Given the description of an element on the screen output the (x, y) to click on. 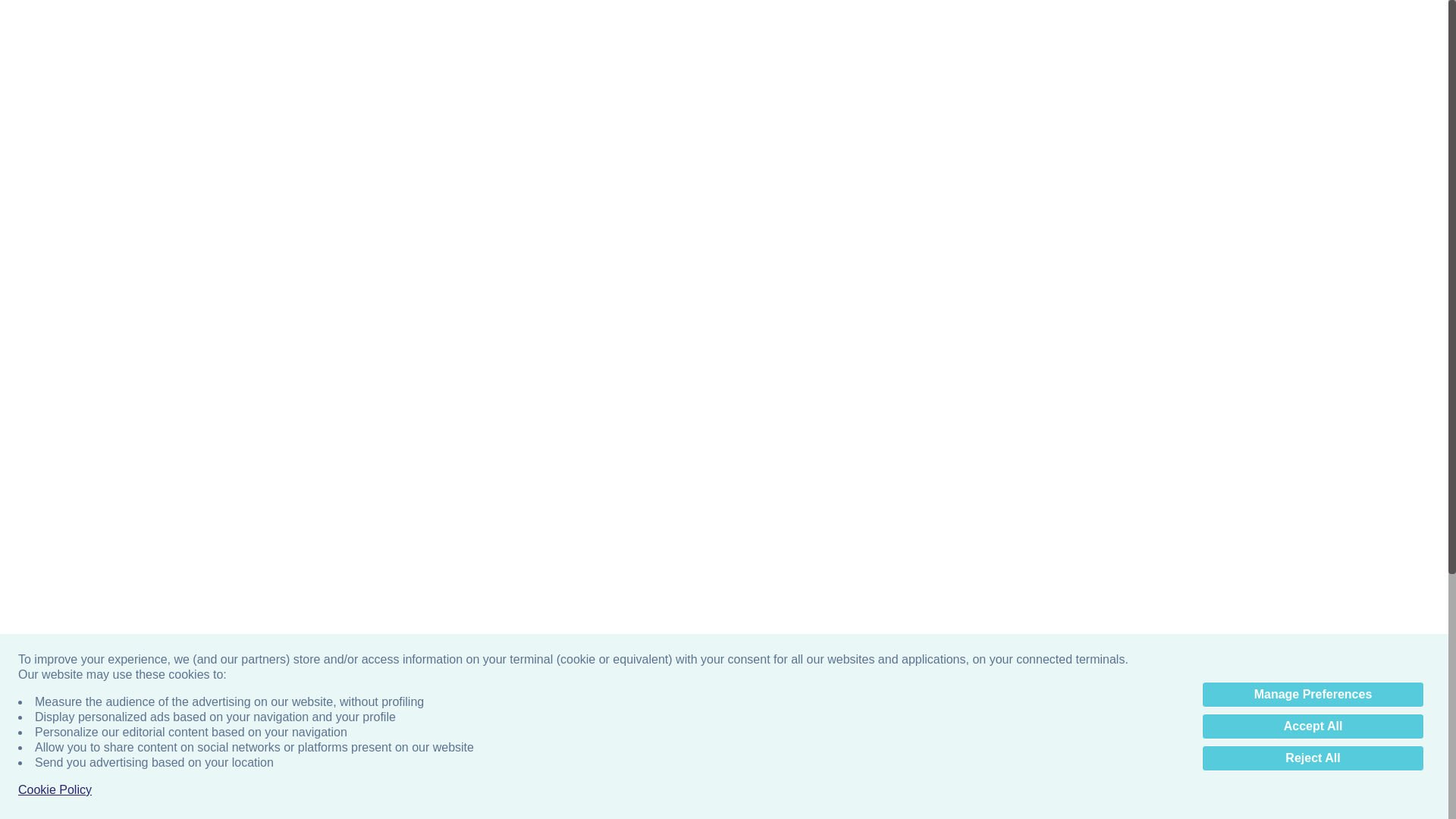
Cookie Policy (54, 789)
Manage Preferences (1312, 694)
Reject All (1312, 758)
Accept All (1312, 726)
